Given the description of an element on the screen output the (x, y) to click on. 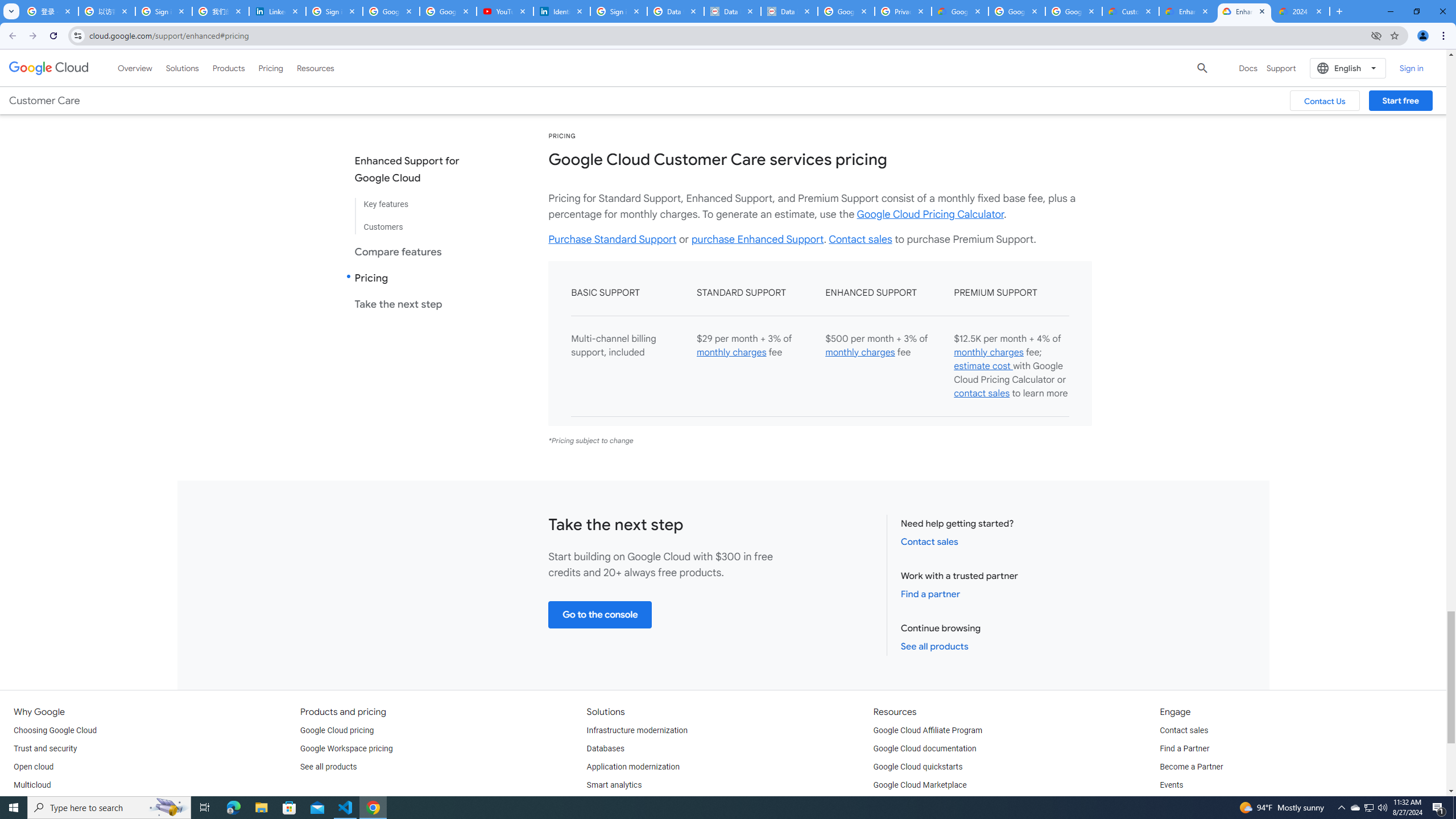
Infrastructure modernization (637, 730)
